Given the description of an element on the screen output the (x, y) to click on. 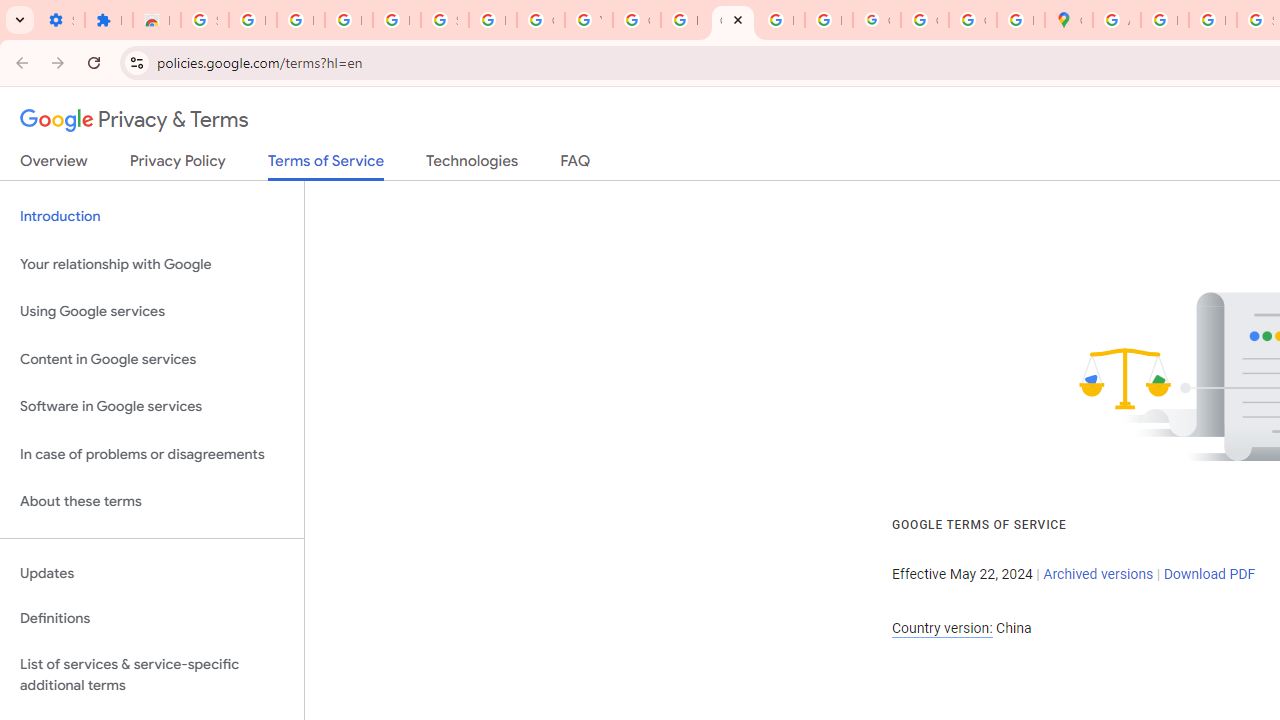
In case of problems or disagreements (152, 453)
Google Maps (1068, 20)
Delete photos & videos - Computer - Google Photos Help (300, 20)
https://scholar.google.com/ (684, 20)
